Given the description of an element on the screen output the (x, y) to click on. 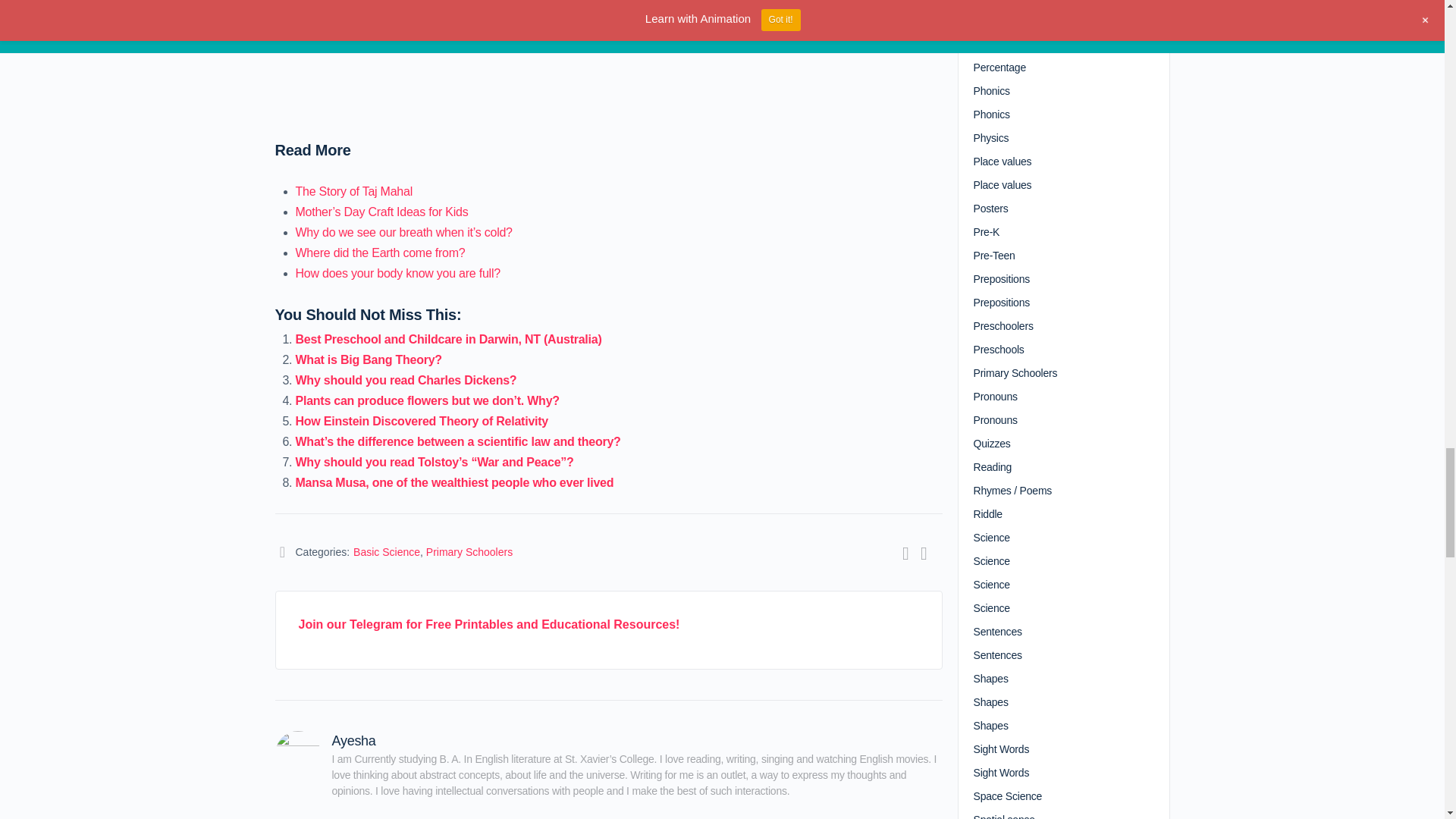
The Story of Taj Mahal (354, 191)
Where did the Earth come from? (380, 252)
How Einstein Discovered Theory of Relativity (421, 420)
Why should you read Charles Dickens? (405, 379)
How does your body know you are full? (397, 273)
What is Big Bang Theory? (368, 359)
